Given the description of an element on the screen output the (x, y) to click on. 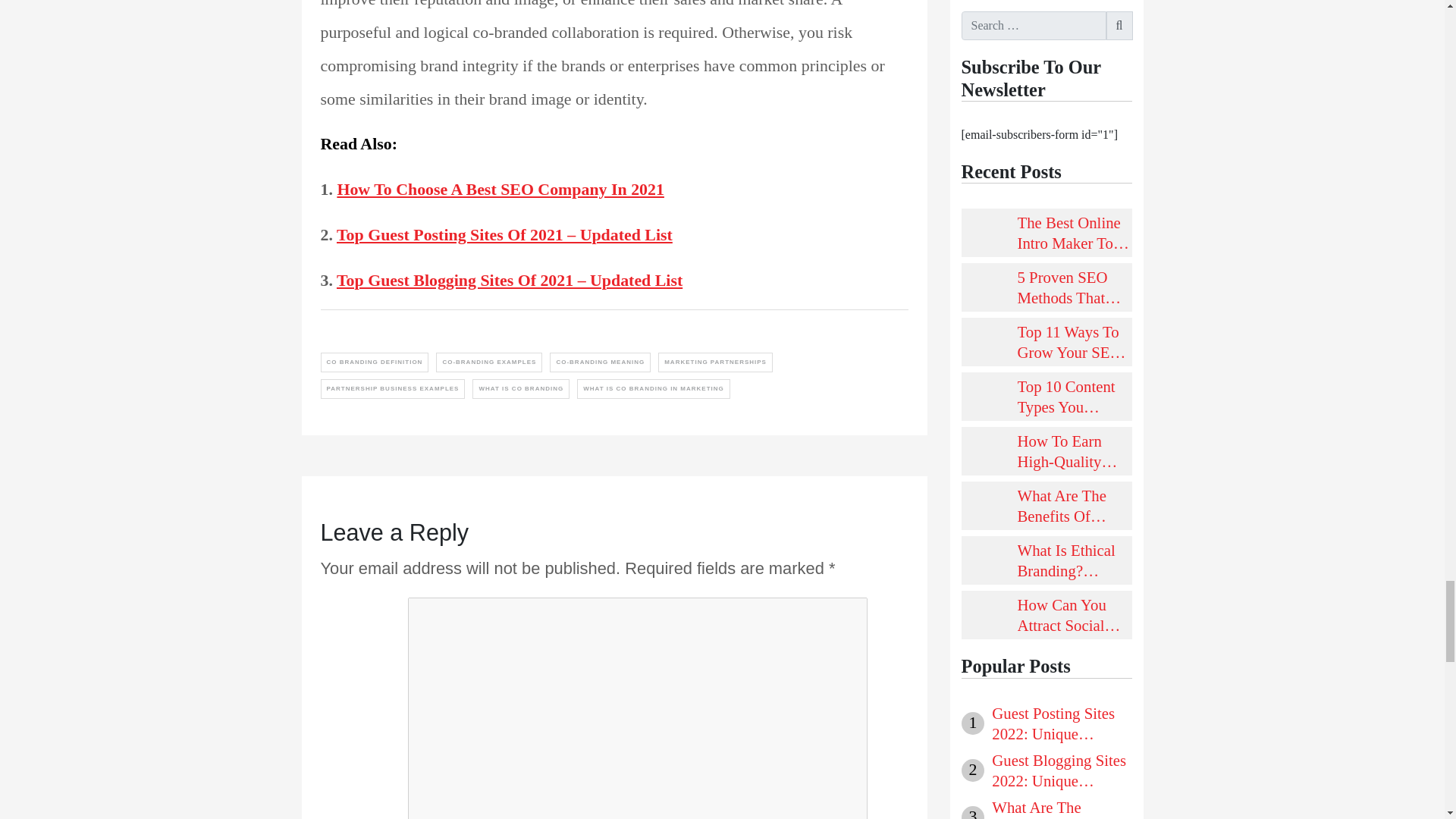
CO-BRANDING EXAMPLES (488, 362)
WHAT IS CO BRANDING IN MARKETING (653, 388)
How To Choose A Best SEO Company In 2021 (499, 189)
MARKETING PARTNERSHIPS (715, 362)
CO BRANDING DEFINITION (374, 362)
PARTNERSHIP BUSINESS EXAMPLES (392, 388)
CO-BRANDING MEANING (600, 362)
WHAT IS CO BRANDING (520, 388)
